Given the description of an element on the screen output the (x, y) to click on. 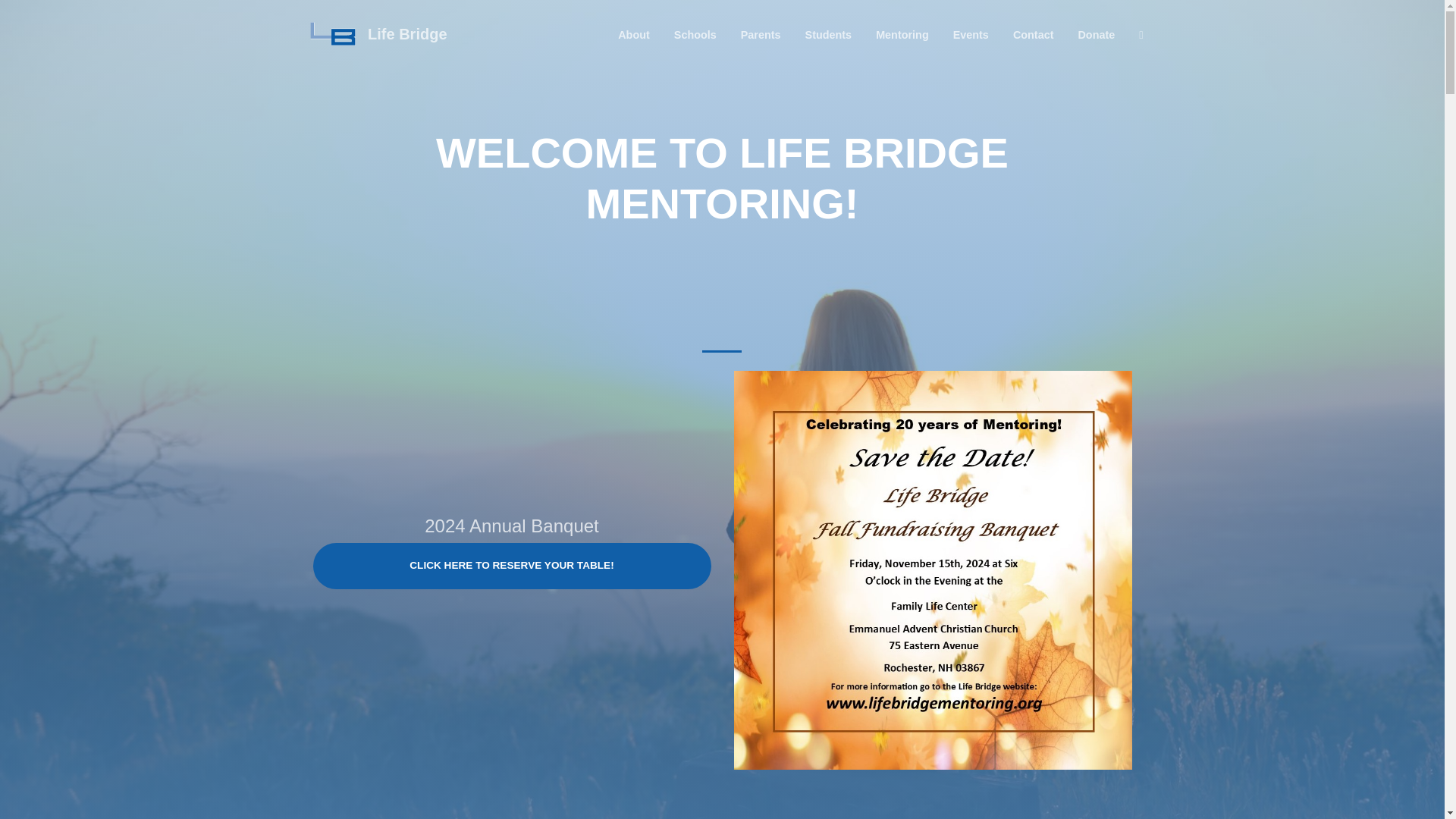
CLICK HERE TO RESERVE YOUR TABLE! (511, 565)
Contact (1033, 35)
Events (970, 35)
Schools (695, 35)
About (633, 35)
Contact (1033, 35)
Life Bridge (373, 35)
Students (828, 35)
Mentoring (901, 35)
About (633, 35)
Life Bridge (373, 35)
Schools (695, 35)
Events (970, 35)
Mentoring (901, 35)
CLICK HERE TO RESERVE YOUR TABLE! (511, 565)
